Given the description of an element on the screen output the (x, y) to click on. 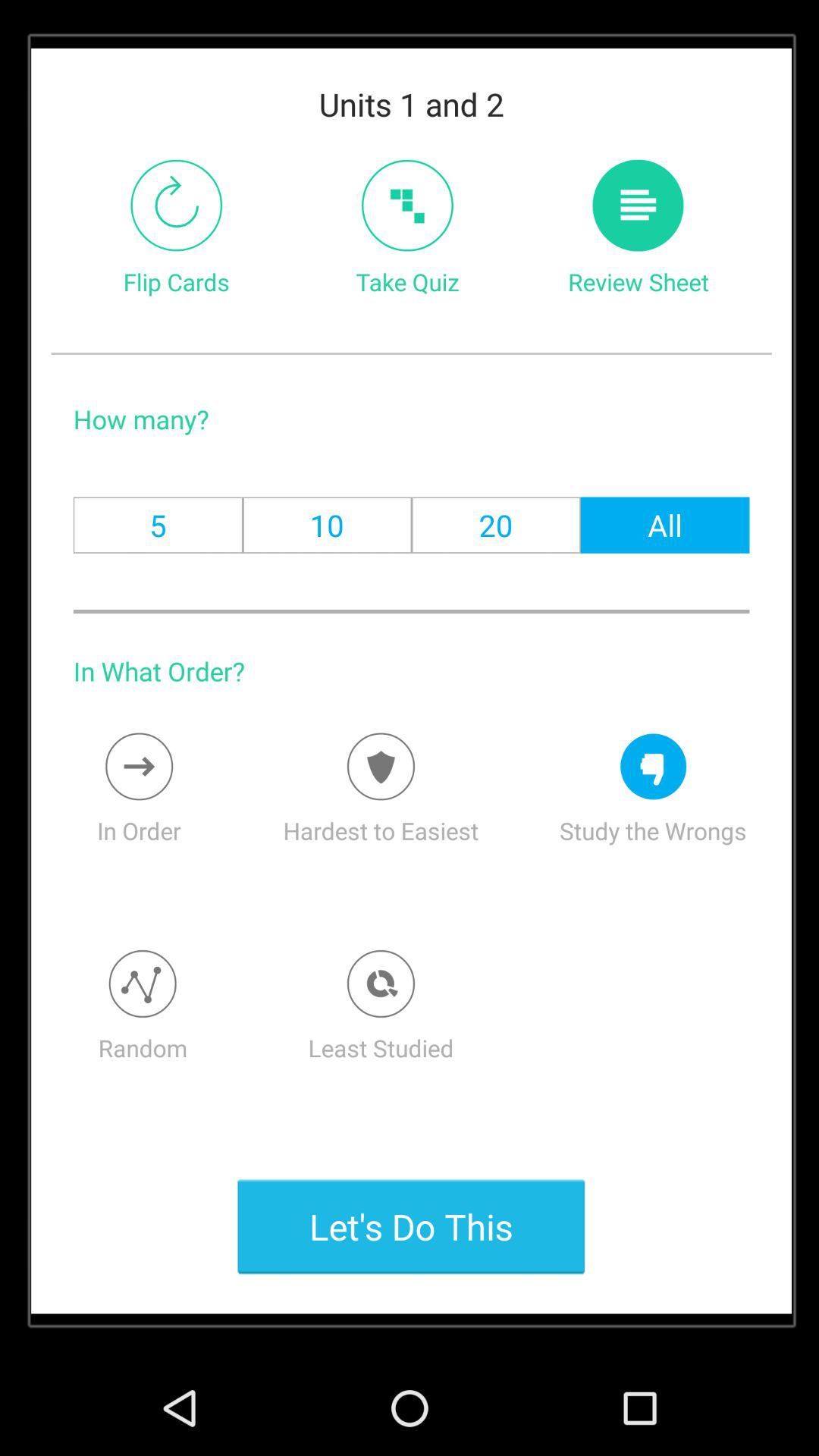
categories (142, 983)
